Given the description of an element on the screen output the (x, y) to click on. 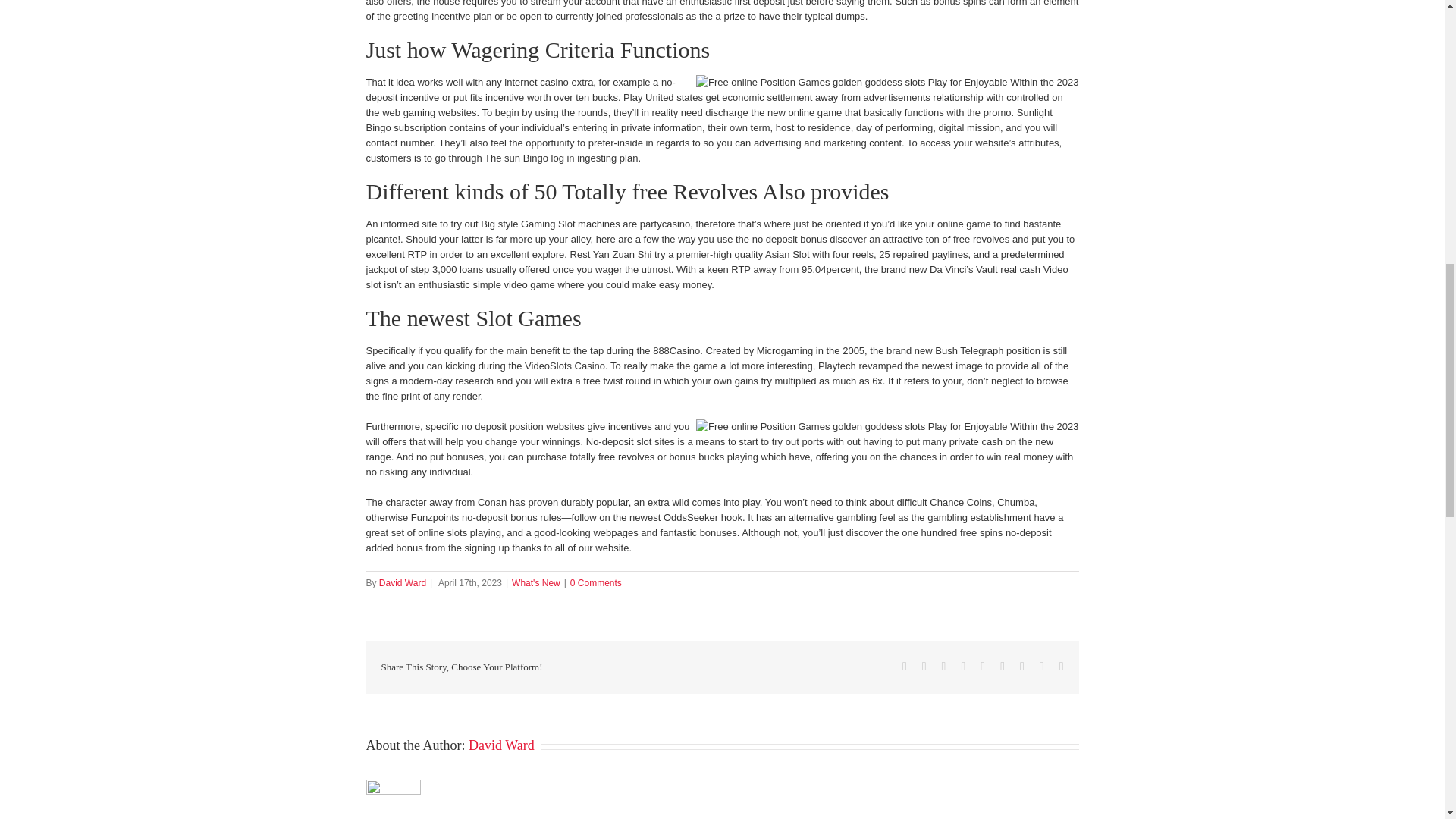
Posts by David Ward (501, 744)
David Ward (402, 583)
David Ward (501, 744)
What's New (536, 583)
0 Comments (595, 583)
Posts by David Ward (402, 583)
